Given the description of an element on the screen output the (x, y) to click on. 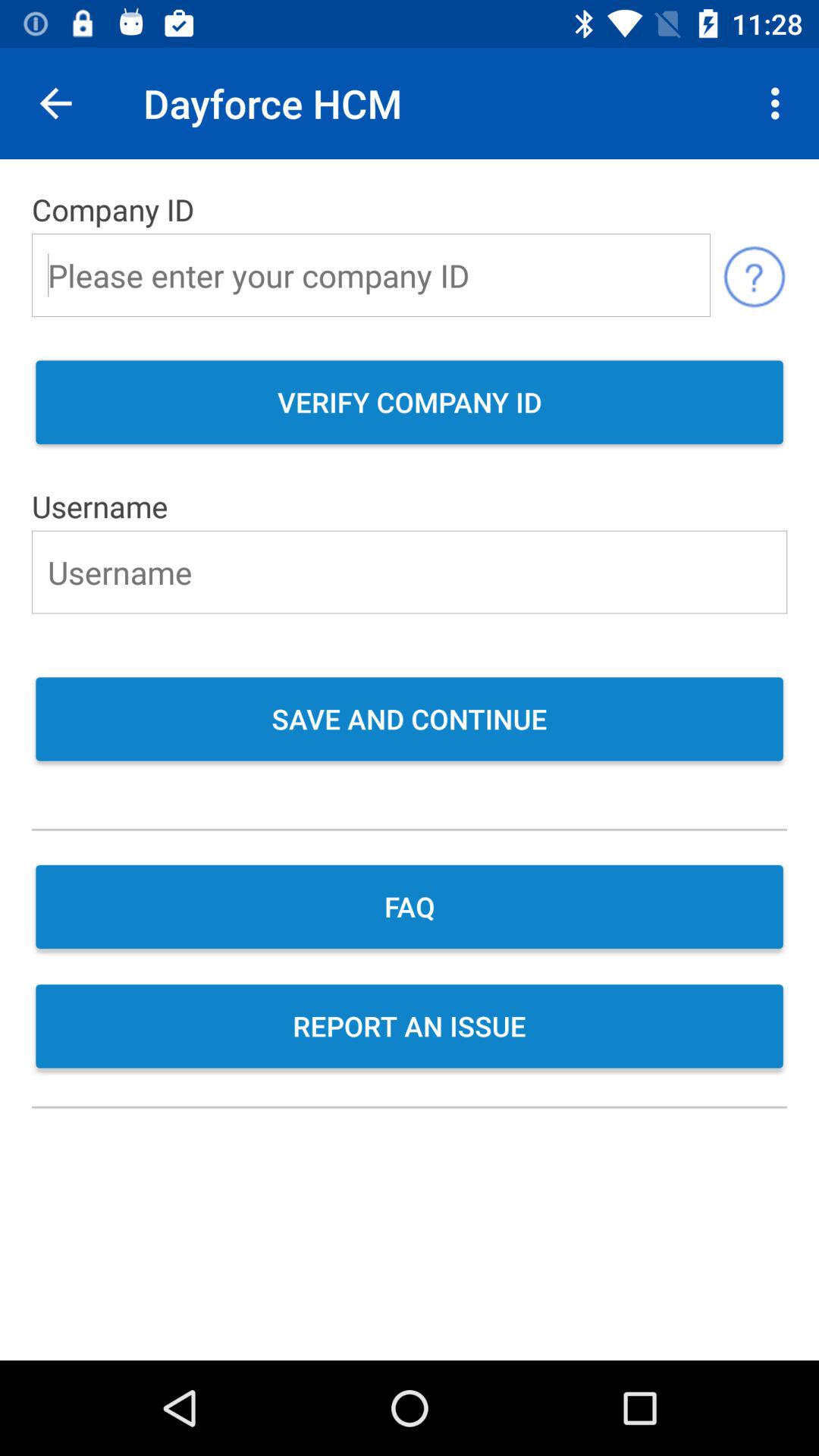
select the item below faq (409, 1028)
